Given the description of an element on the screen output the (x, y) to click on. 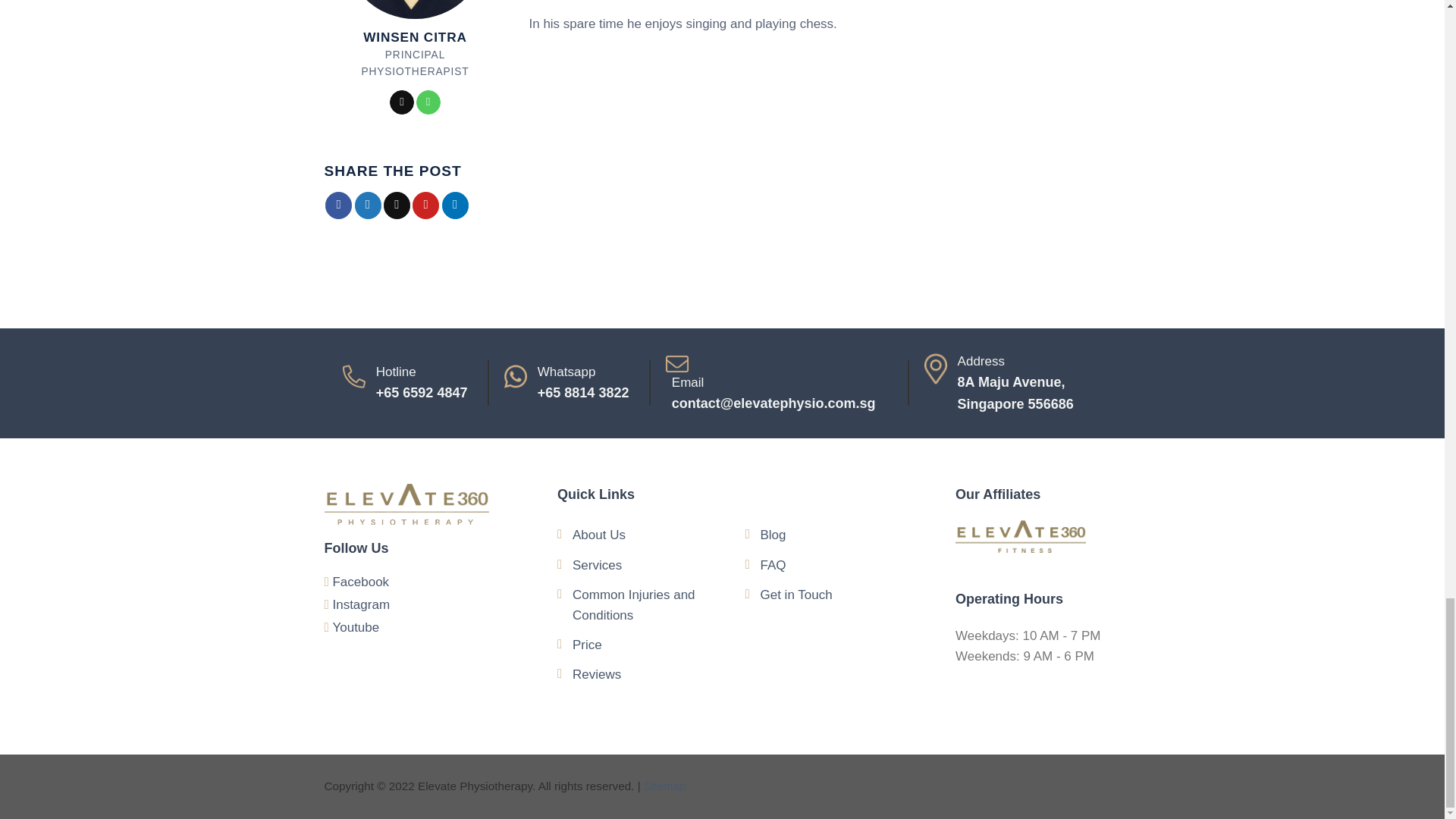
Call us (428, 102)
Send us an email (401, 102)
Pin on Pinterest (425, 205)
Share on Twitter (368, 205)
Email to a Friend (397, 205)
Share on Facebook (338, 205)
